Given the description of an element on the screen output the (x, y) to click on. 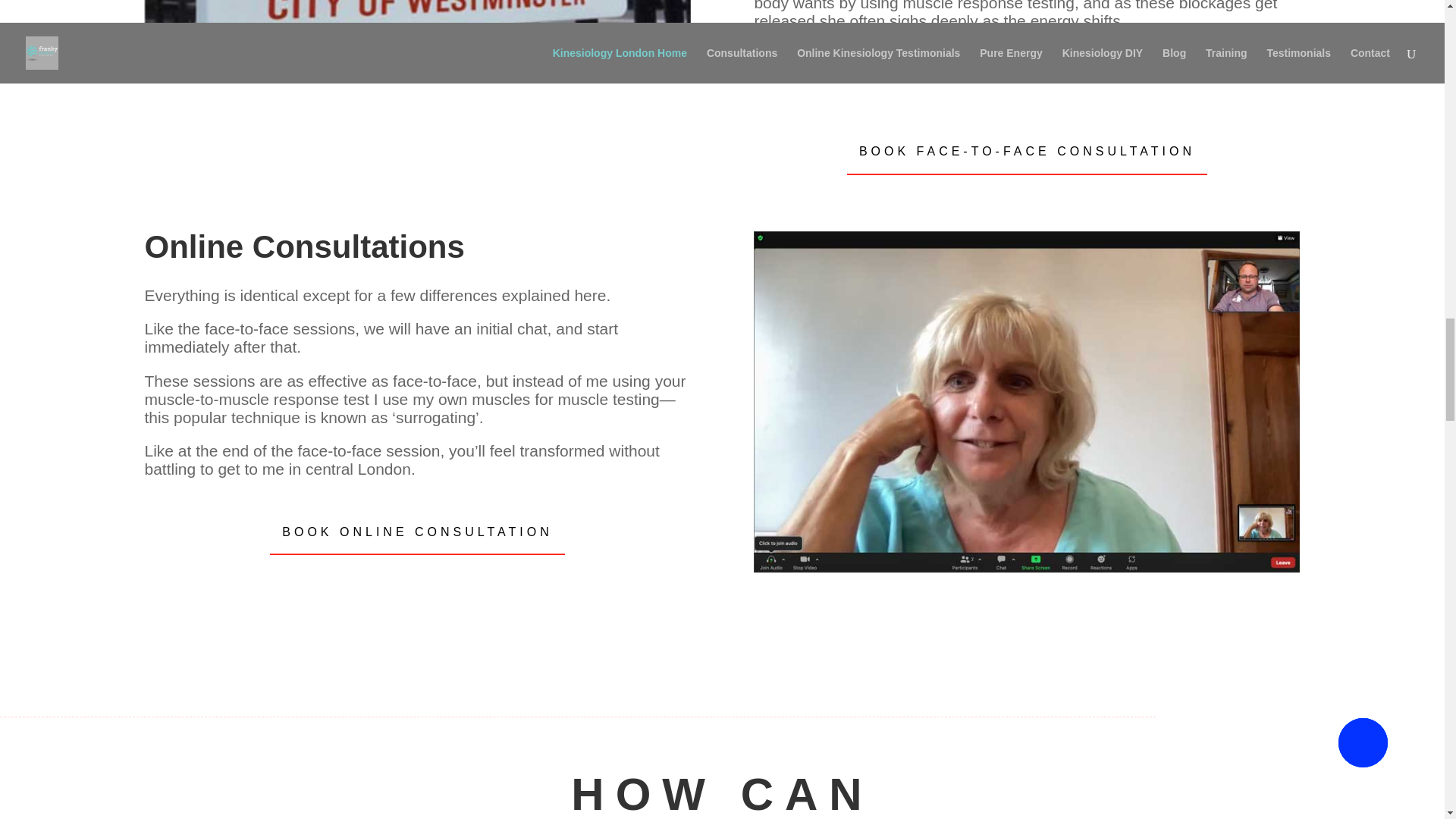
Kinesiology-Clinic-London-Harley-Street (417, 27)
BOOK FACE-TO-FACE CONSULTATION (1027, 150)
BOOK ONLINE CONSULTATION (416, 531)
